Given the description of an element on the screen output the (x, y) to click on. 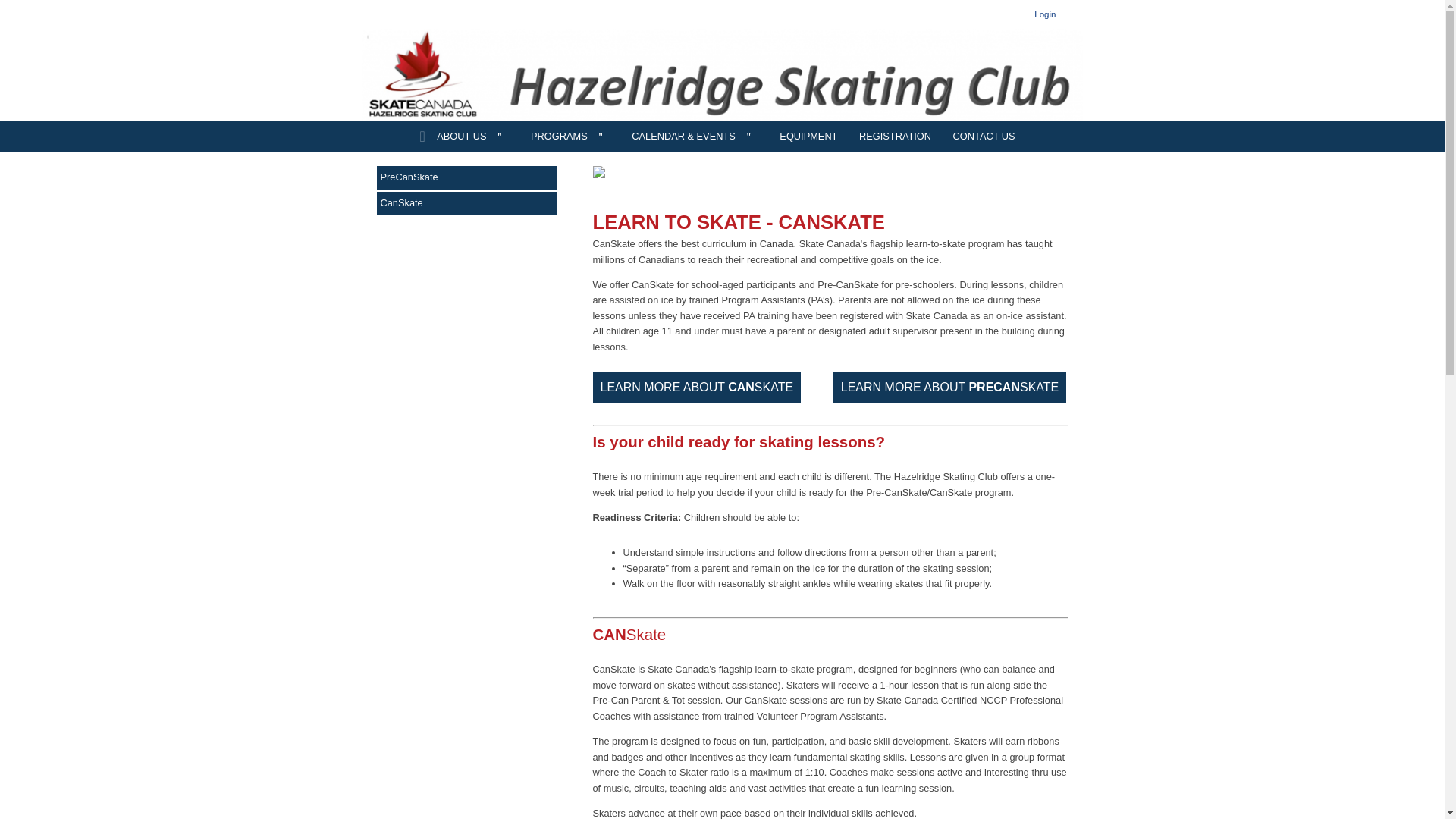
EQUIPMENT (808, 136)
REGISTRATION (895, 136)
Hazelridge Skating Club powered by Uplifter (722, 74)
CONTACT US (984, 136)
ABOUT US (472, 136)
Programs (570, 136)
CanSkate (465, 202)
LEARN MORE ABOUT PRECANSKATE (948, 387)
Login (1044, 14)
LEARN MORE ABOUT CANSKATE (697, 387)
PROGRAMS (570, 136)
About Us (472, 136)
PreCanSkate (465, 177)
Login (1044, 14)
